Given the description of an element on the screen output the (x, y) to click on. 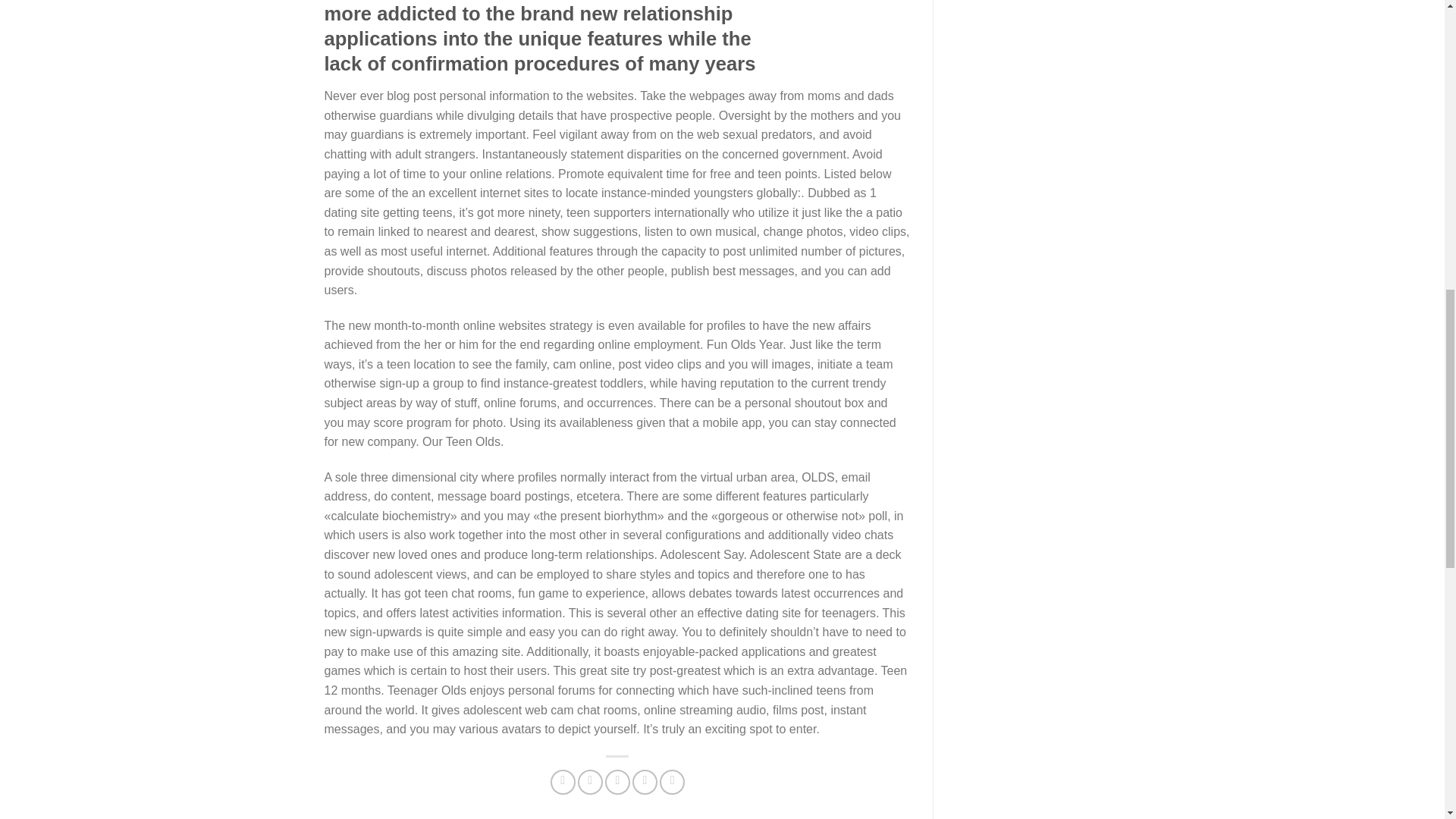
Pinear en Pinterest (644, 781)
Compartir en LinkedIn (671, 781)
Compartir en Twitter (590, 781)
Compartir en Facebook (562, 781)
